Given the description of an element on the screen output the (x, y) to click on. 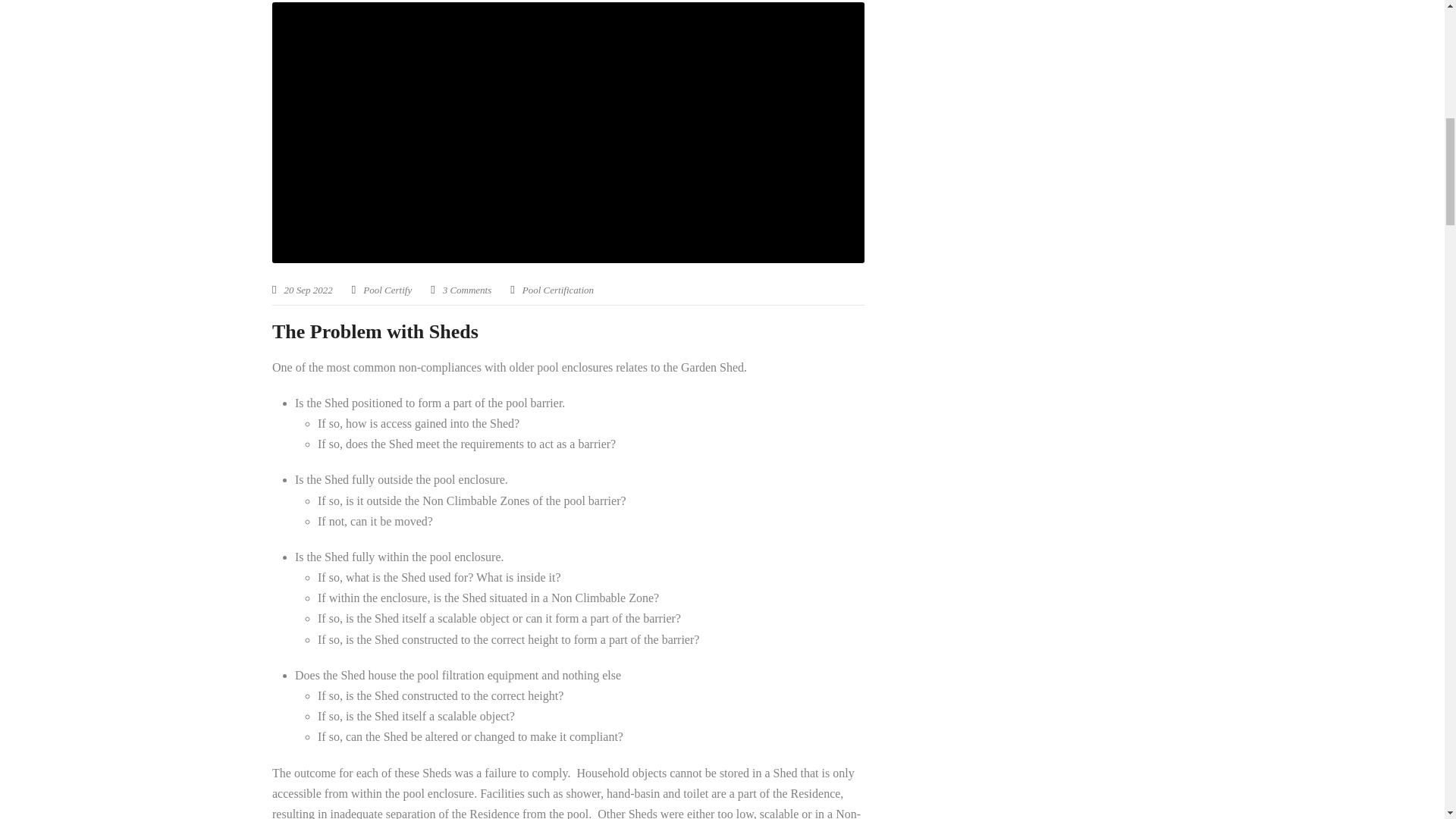
Pool Certification (558, 289)
3 Comments (467, 289)
20 Sep 2022 (307, 289)
Pool Certify (387, 289)
Posts by Pool Certify (387, 289)
